Given the description of an element on the screen output the (x, y) to click on. 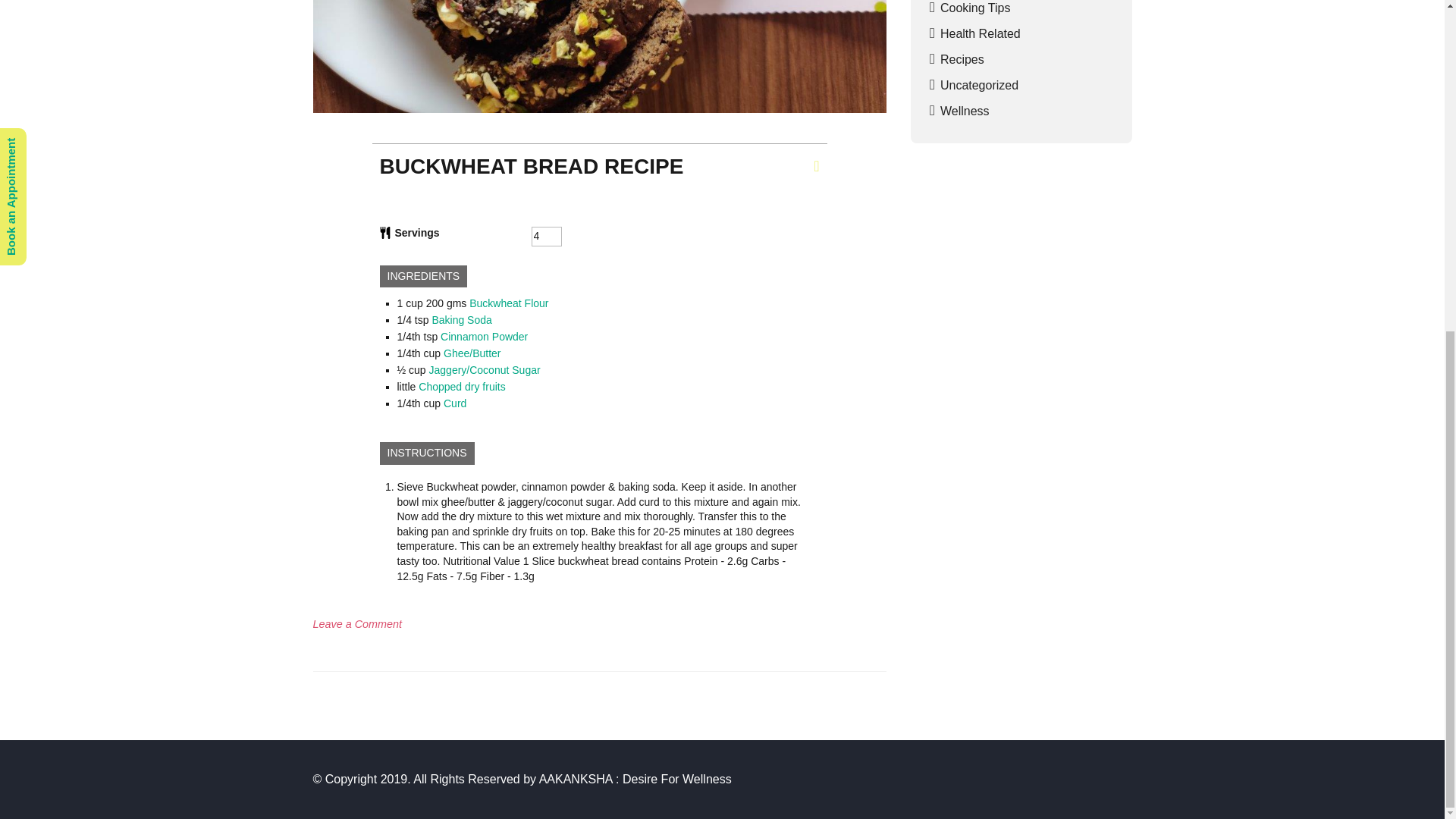
Cinnamon Powder (484, 336)
Baking Soda (461, 319)
4 (545, 236)
Cooking Tips (975, 7)
Chopped dry fruits (462, 386)
Curd (357, 623)
Buckwheat Flour (454, 403)
